Given the description of an element on the screen output the (x, y) to click on. 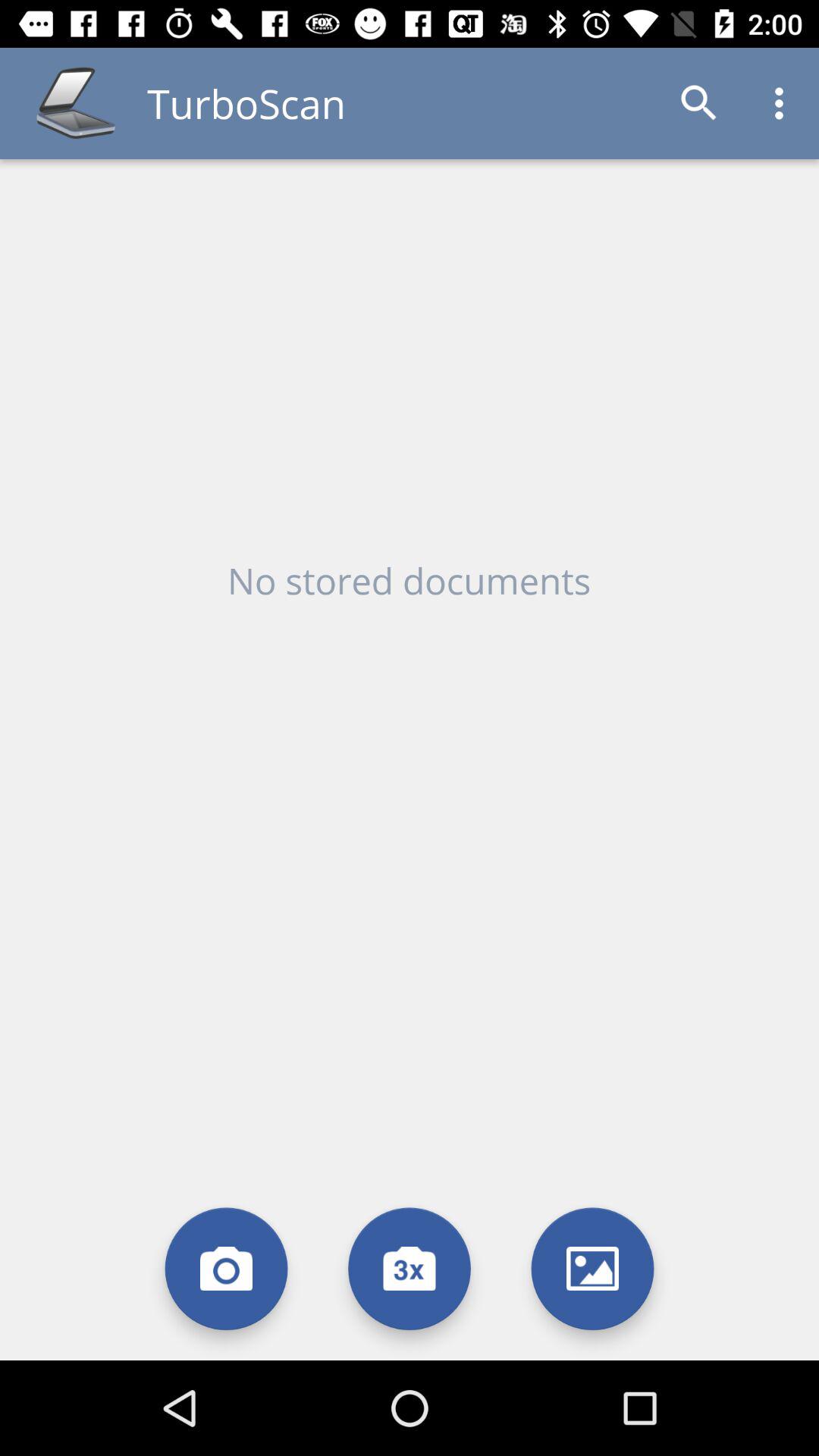
choose the item to the right of turboscan icon (699, 103)
